Given the description of an element on the screen output the (x, y) to click on. 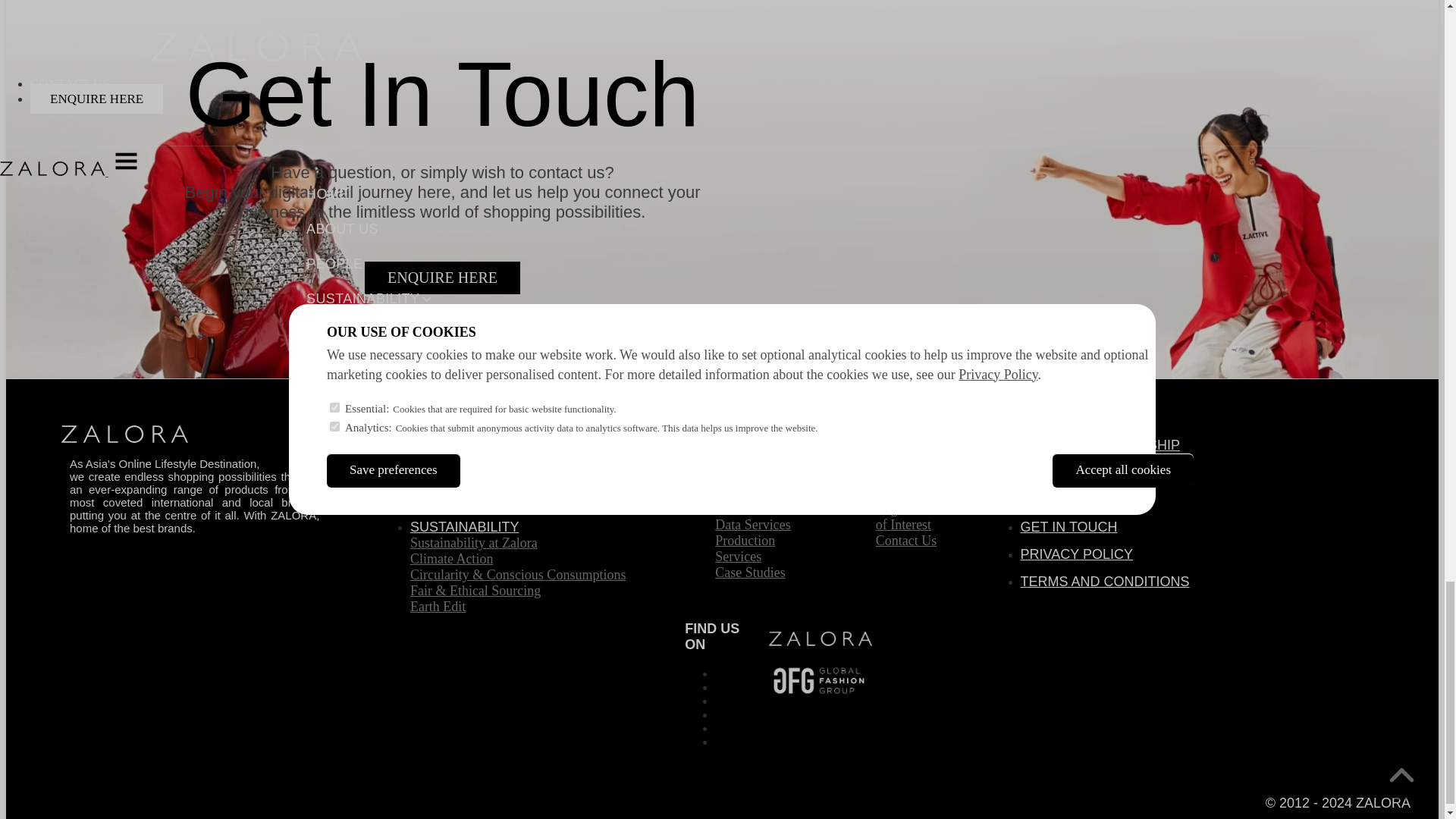
Home (96, 438)
